Given the description of an element on the screen output the (x, y) to click on. 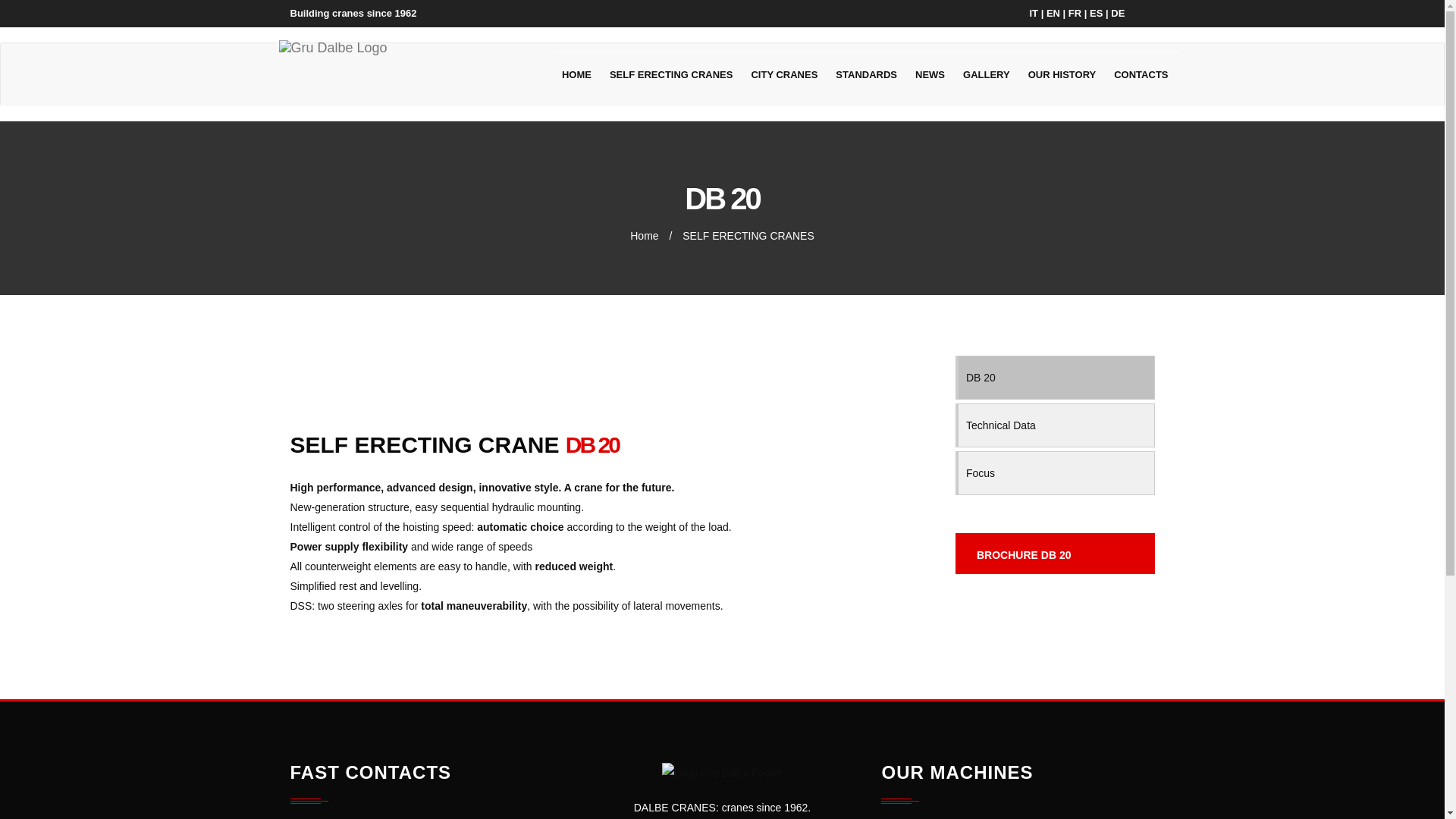
STANDARDS (866, 74)
Focus (1056, 473)
CONTACTS (1140, 74)
ES (1095, 12)
SELF ERECTING CRANES (747, 235)
Home (644, 235)
NEWS (929, 74)
DE (1117, 12)
HOME (576, 74)
OUR HISTORY (1062, 74)
